Given the description of an element on the screen output the (x, y) to click on. 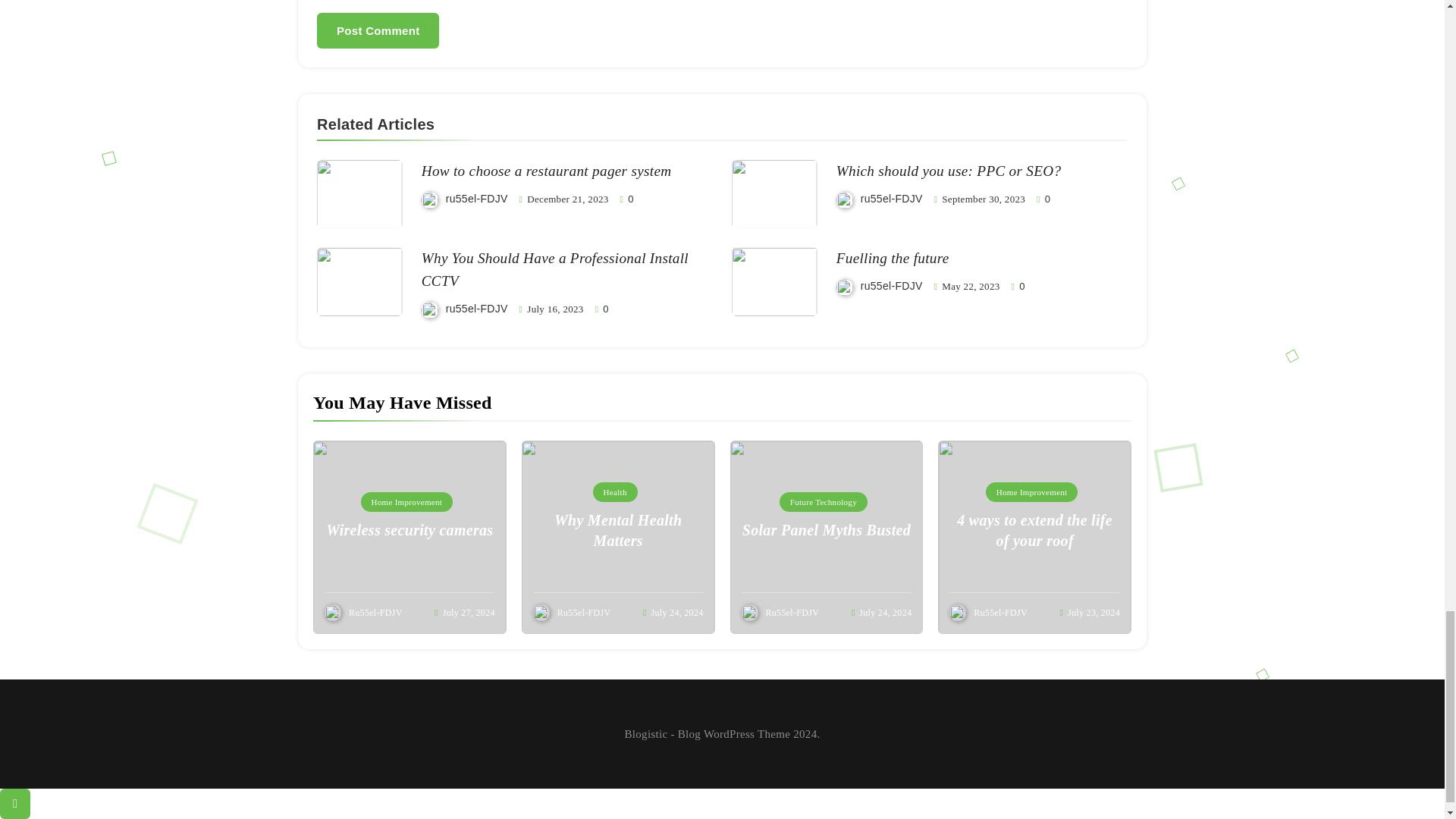
Post Comment (378, 30)
